Given the description of an element on the screen output the (x, y) to click on. 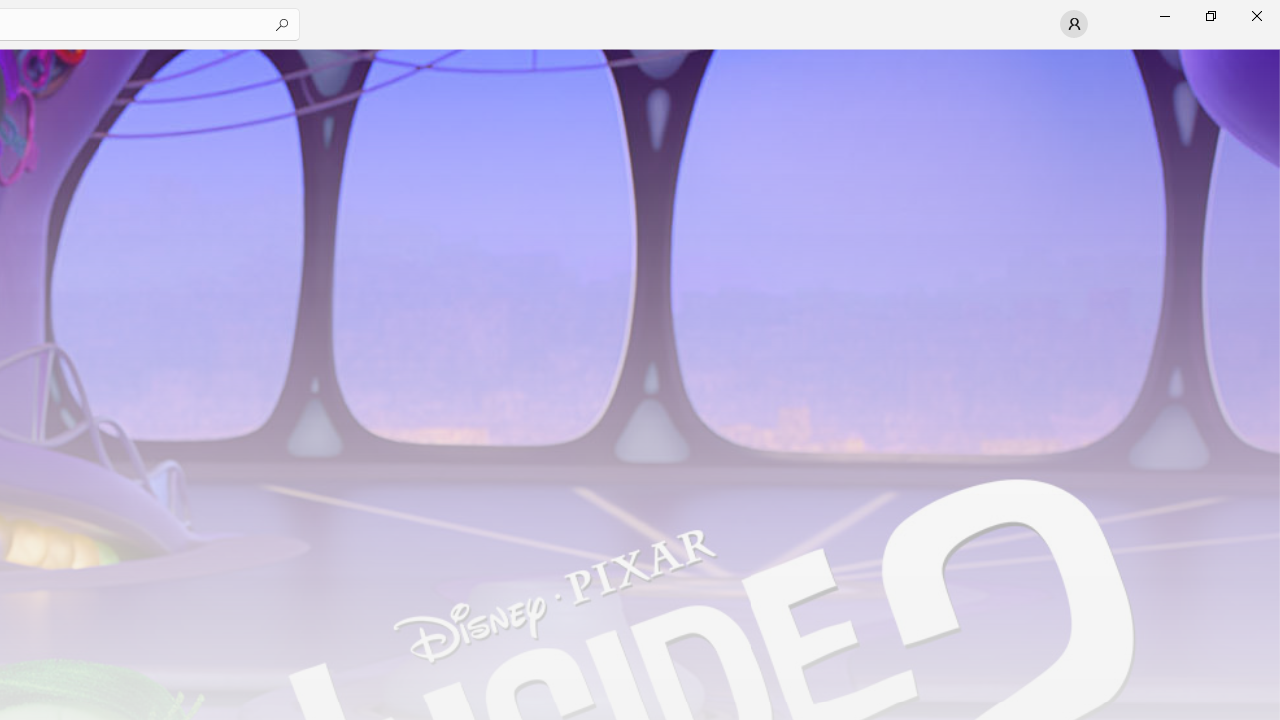
Minimize Microsoft Store (1164, 15)
User profile (1073, 24)
Close Microsoft Store (1256, 15)
Restore Microsoft Store (1210, 15)
